Given the description of an element on the screen output the (x, y) to click on. 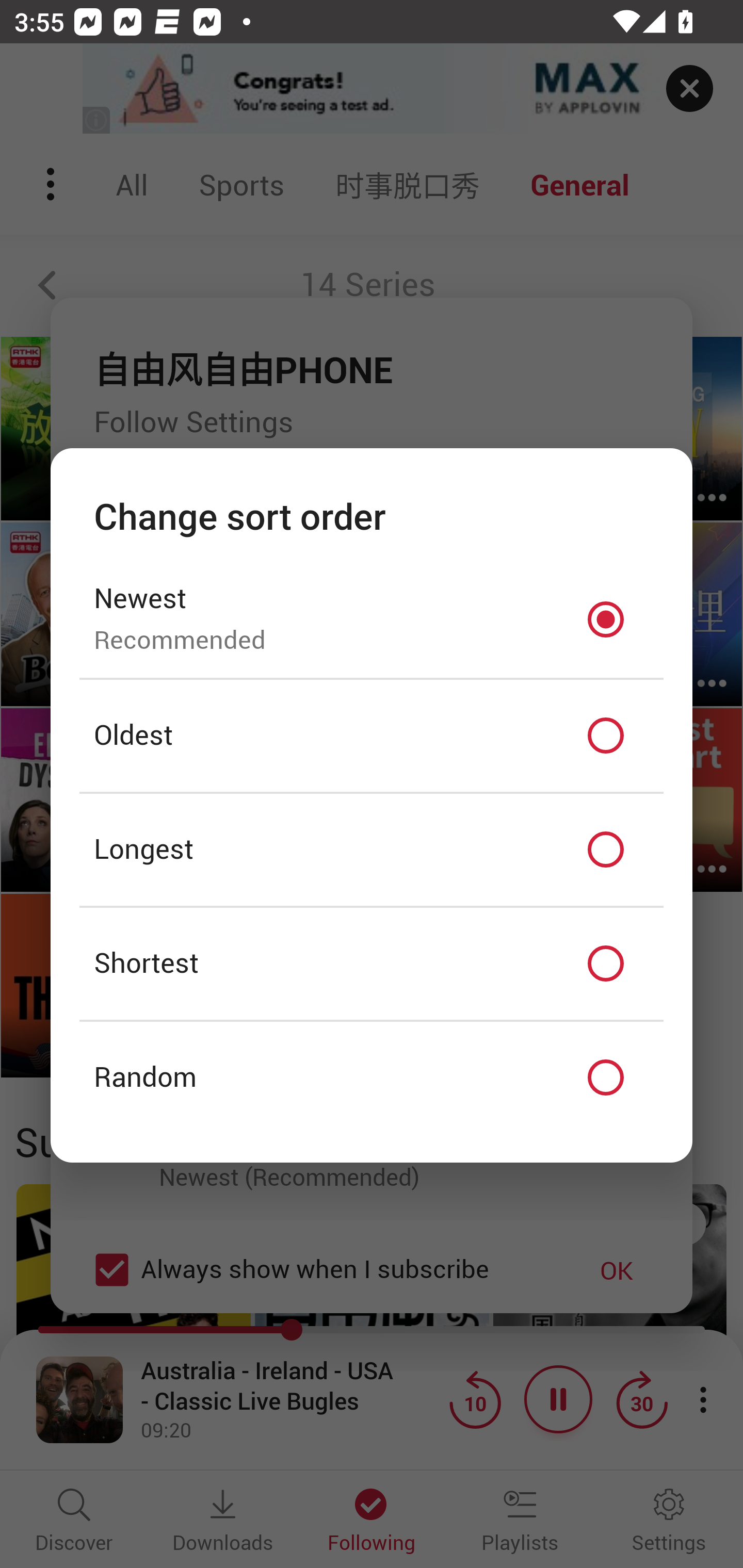
Newest Recommended (371, 619)
Oldest (371, 735)
Longest (371, 849)
Shortest (371, 963)
Random (371, 1077)
